Given the description of an element on the screen output the (x, y) to click on. 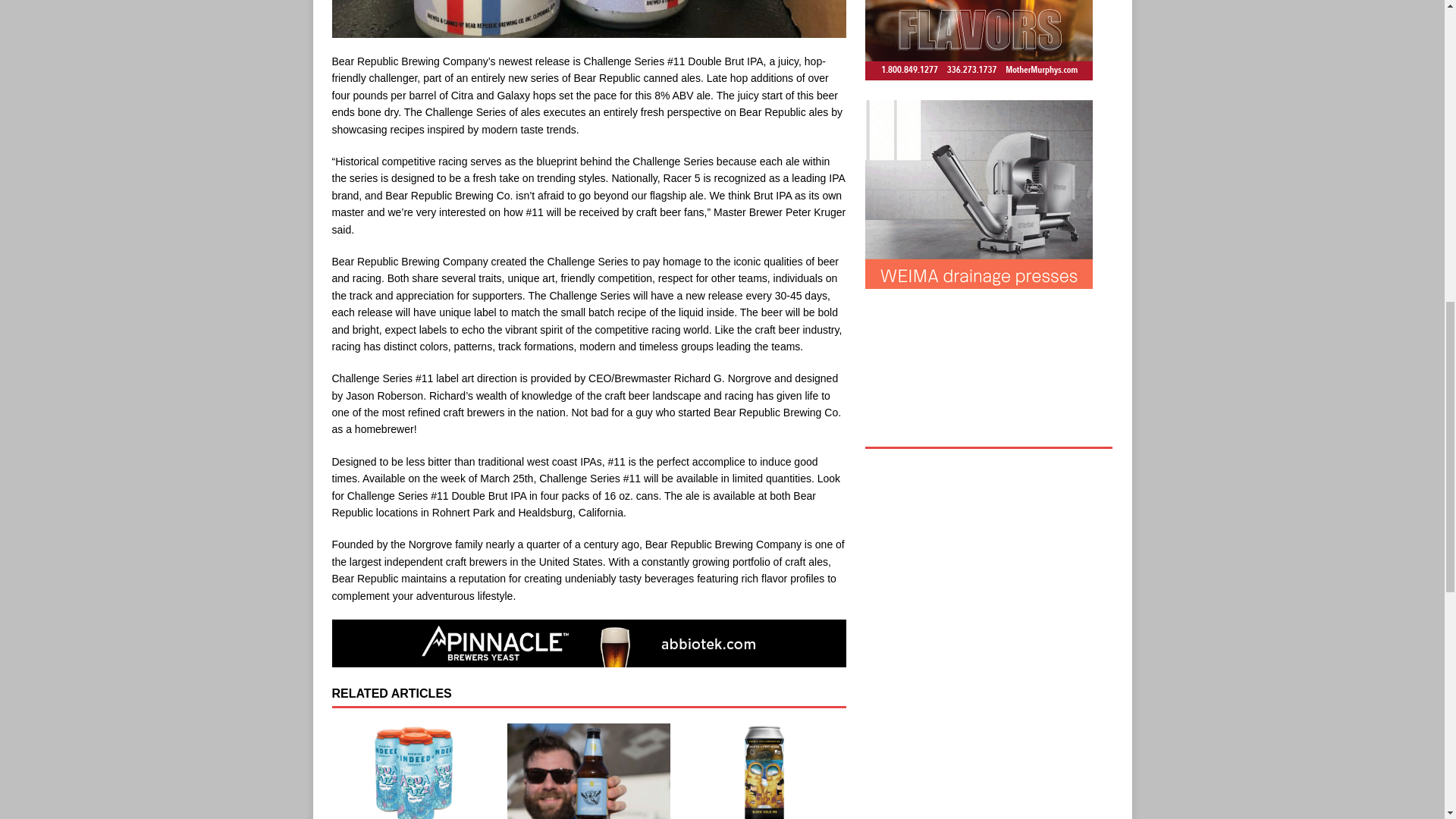
Indeed Releases Its 1st Hazy IPA in Cans (413, 771)
New Saison a Seasonal Offering from Brewery Ommegang (587, 771)
Bear Republic Challenege Series 640x (588, 18)
